Given the description of an element on the screen output the (x, y) to click on. 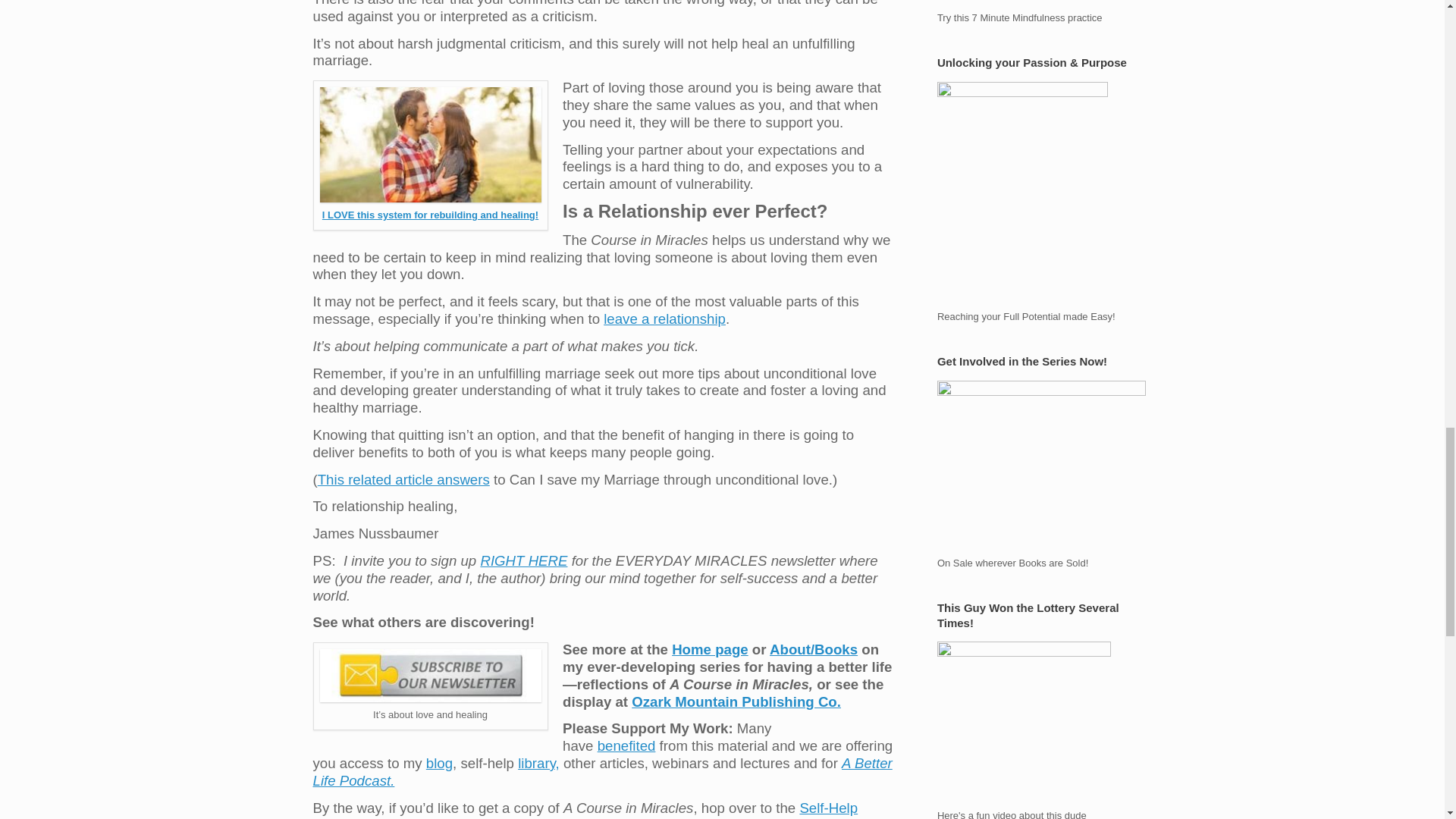
library, (538, 763)
Self-Help Library page (585, 809)
benefited (626, 745)
This related article answers (403, 479)
A Better Life Podcast. (602, 771)
leave a relationship (664, 318)
RIGHT HERE (523, 560)
Home page (709, 649)
blog (439, 763)
I LOVE this system for rebuilding and healing! (429, 214)
Ozark Mountain Publishing Co. (736, 701)
